Given the description of an element on the screen output the (x, y) to click on. 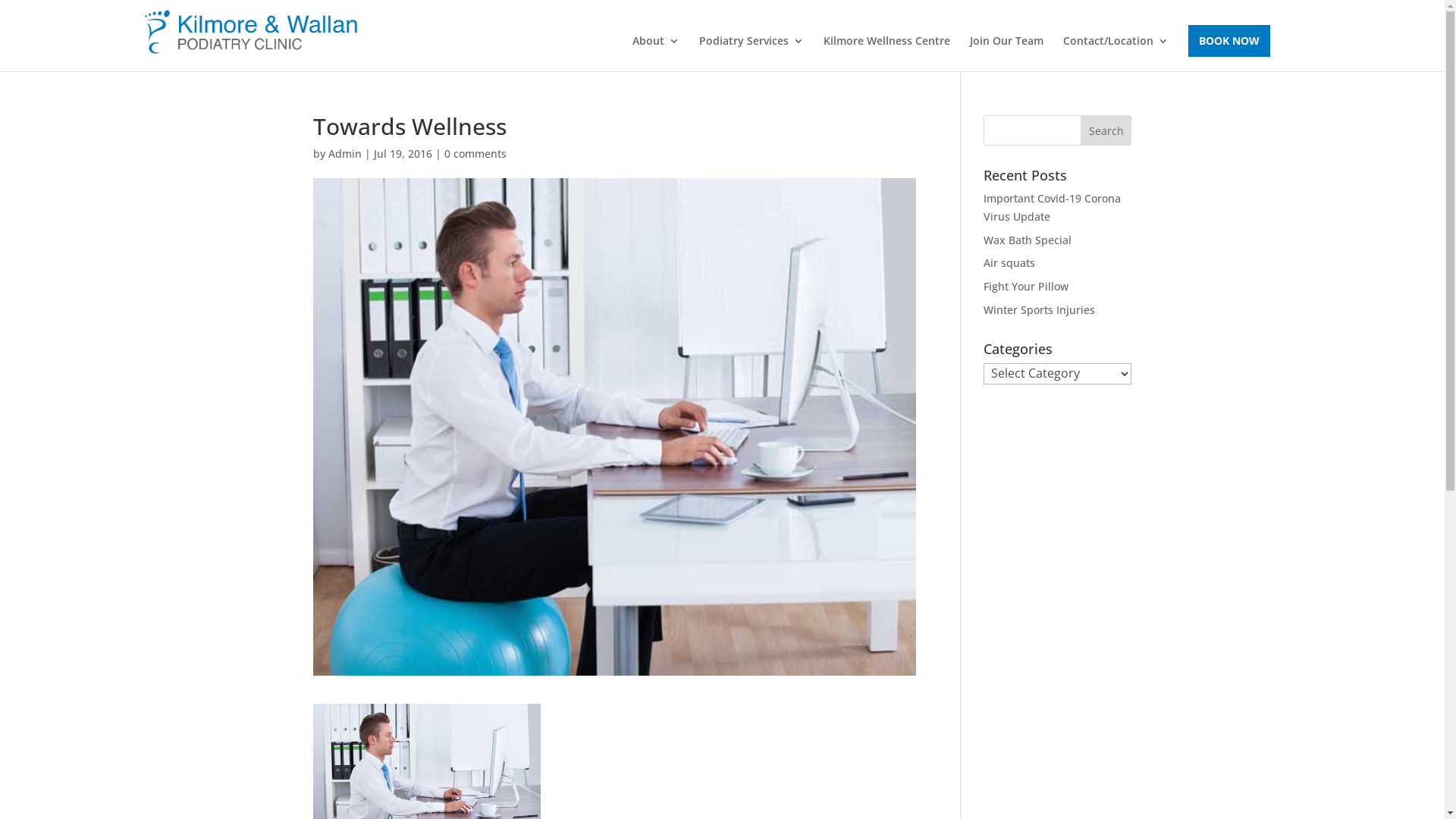
Join Our Team Element type: text (1005, 53)
Kilmore Wellness Centre Element type: text (886, 53)
0 comments Element type: text (475, 153)
Winter Sports Injuries Element type: text (1039, 309)
Admin Element type: text (343, 153)
Podiatry Services Element type: text (751, 53)
Important Covid-19 Corona Virus Update Element type: text (1051, 207)
About Element type: text (655, 53)
Air squats Element type: text (1009, 262)
Search Element type: text (1106, 130)
Wax Bath Special Element type: text (1027, 239)
BOOK NOW Element type: text (1228, 40)
Contact/Location Element type: text (1115, 53)
Fight Your Pillow Element type: text (1025, 286)
